Given the description of an element on the screen output the (x, y) to click on. 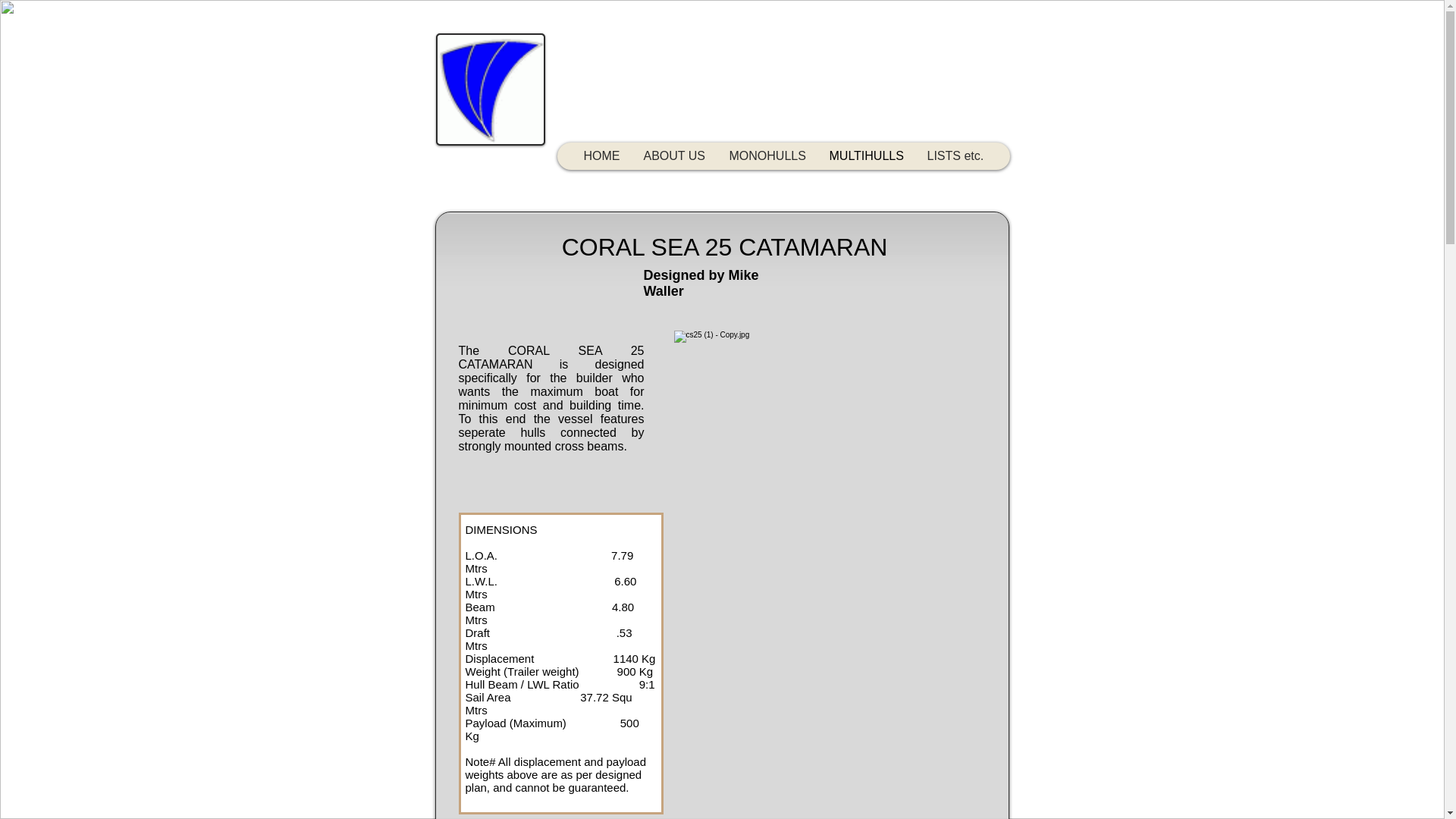
LISTS etc. (954, 155)
MONOHULLS (766, 155)
ABOUT US (673, 155)
MULTIHULLS (865, 155)
HOME (601, 155)
